Given the description of an element on the screen output the (x, y) to click on. 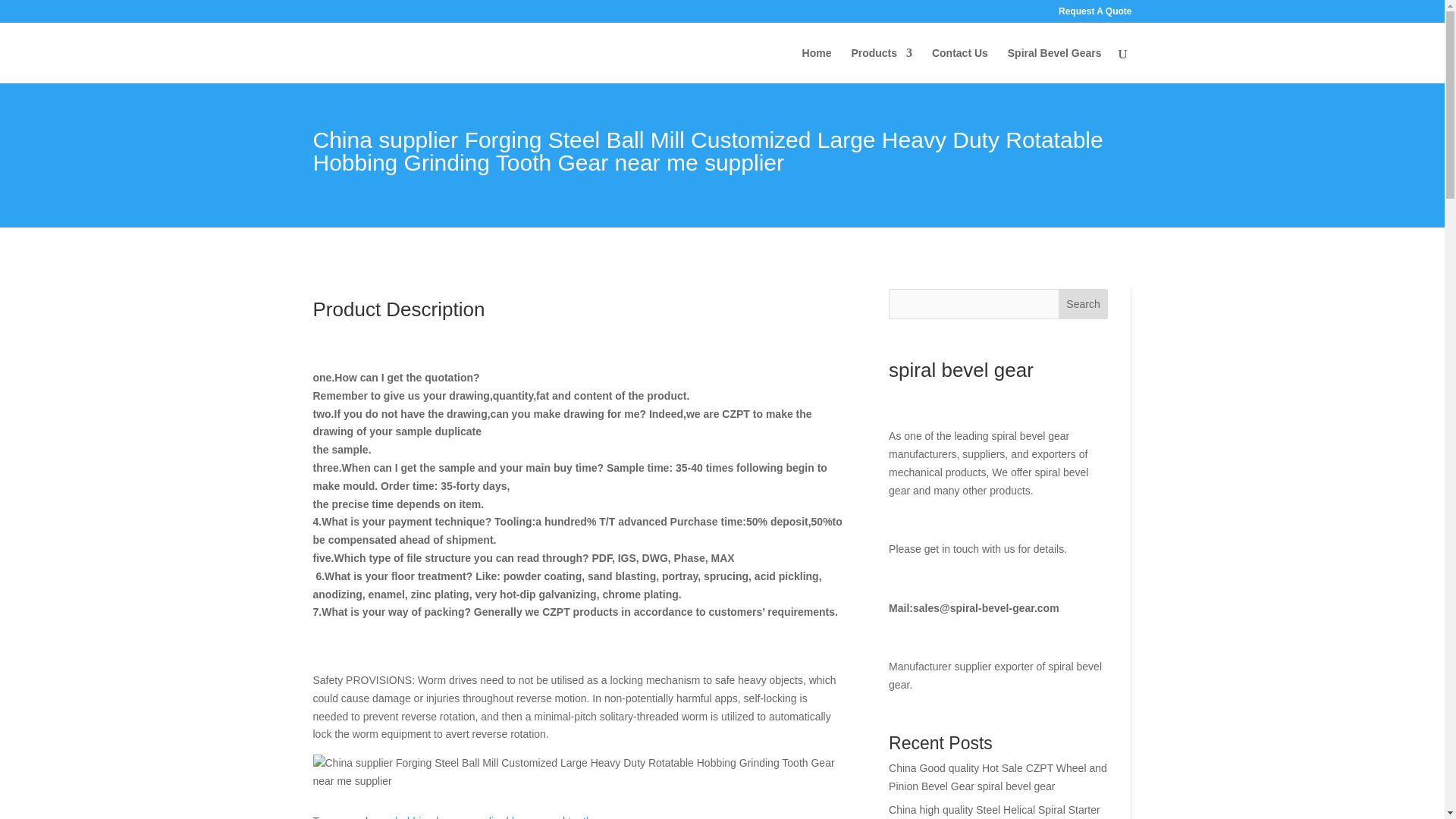
gear (351, 816)
Search (1083, 304)
Spiral Bevel Gears (1054, 65)
Request A Quote (1094, 14)
Products (881, 65)
gear supplier (471, 816)
large gear (535, 816)
gear hobbing (401, 816)
tooth gear (591, 816)
Contact Us (959, 65)
